Given the description of an element on the screen output the (x, y) to click on. 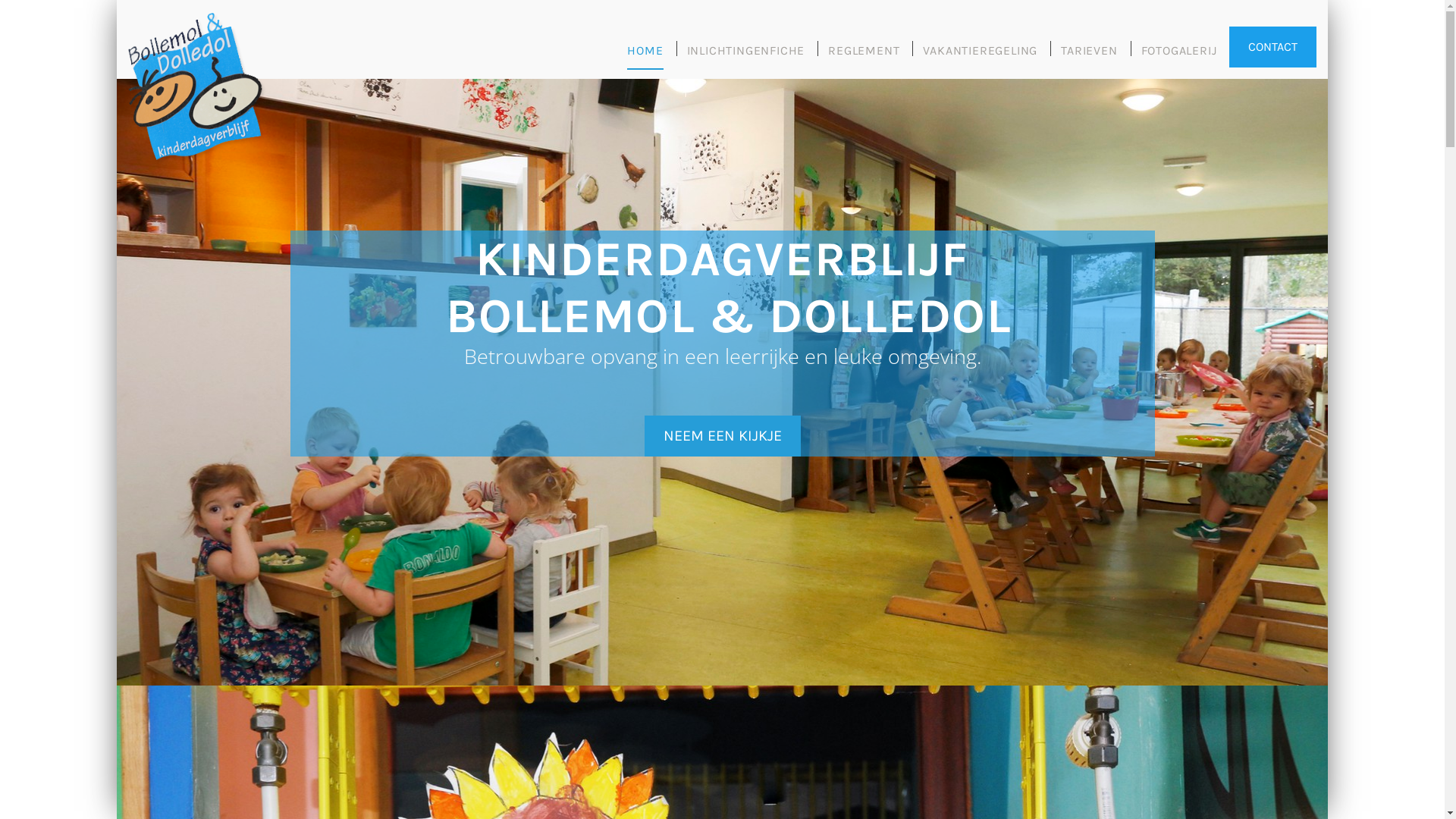
REGLEMENT Element type: text (863, 56)
NEEM EEN KIJKJE Element type: text (722, 435)
VAKANTIEREGELING Element type: text (979, 56)
HOME Element type: text (644, 56)
TARIEVEN Element type: text (1088, 56)
FOTOGALERIJ Element type: text (1179, 56)
CONTACT Element type: text (1272, 46)
INLICHTINGENFICHE Element type: text (746, 56)
